Given the description of an element on the screen output the (x, y) to click on. 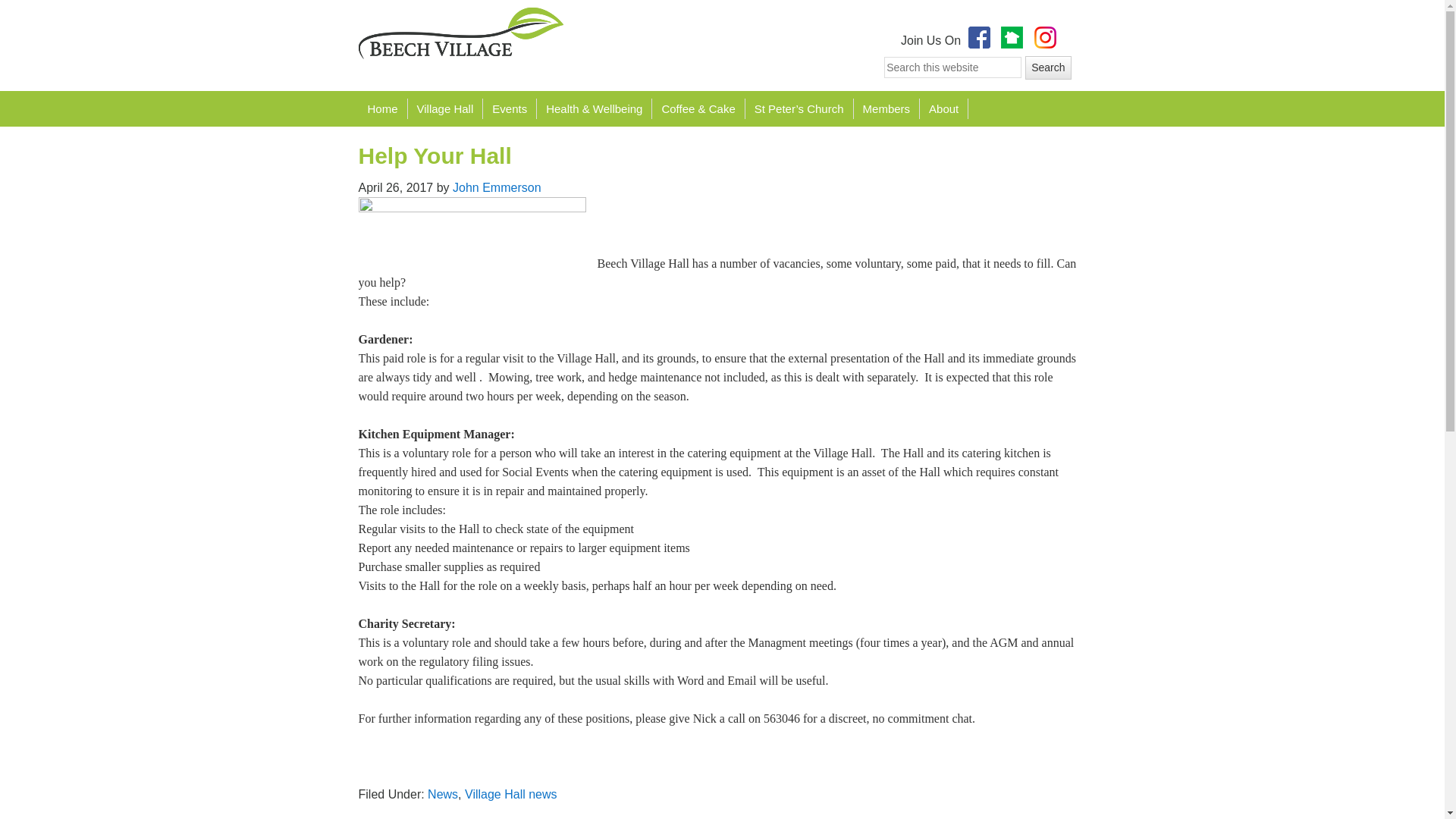
Search (1047, 67)
Search (1047, 67)
Home (382, 108)
Search (1047, 67)
Events (510, 108)
Village Hall (445, 108)
Beech Village Hampshire (460, 32)
Members (886, 108)
